Given the description of an element on the screen output the (x, y) to click on. 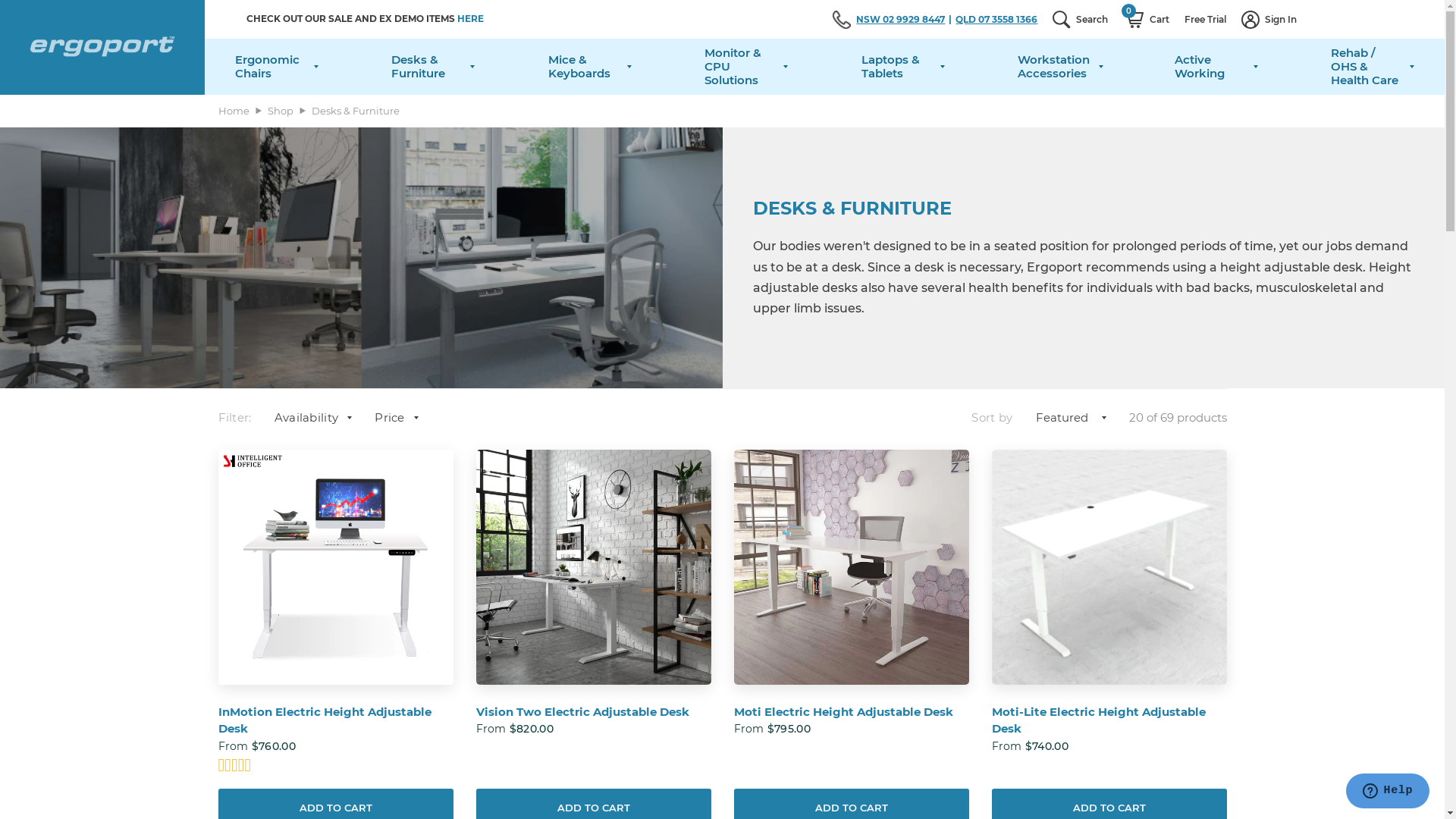
0
Cart Element type: text (1145, 19)
Moti Electric Height Adjustable Desk Element type: text (851, 712)
InMotion Electric Height Adjustable Desk Element type: hover (335, 566)
Vision Two Electric Adjustable Desk Element type: text (593, 712)
Sign In Element type: text (1268, 19)
Moti-Lite Electric Height Adjustable Desk Element type: hover (1108, 566)
QLD 07 3558 1366 Element type: text (996, 19)
Desks & Furniture Element type: text (432, 66)
Moti Electric Height Adjustable Desk Element type: hover (851, 566)
Mice & Keyboards Element type: text (589, 66)
Vision Two Electric Adjustable Desk Element type: hover (593, 566)
Workstation Accessories Element type: text (1060, 66)
InMotion Electric Height Adjustable Desk Element type: text (335, 720)
Ergonomic Chairs Element type: text (276, 66)
Shop Element type: text (279, 110)
Free Trial Element type: text (1204, 19)
Monitor & CPU Solutions Element type: text (745, 66)
Moti-Lite Electric Height Adjustable Desk Element type: text (1108, 720)
NSW 02 9929 8447 Element type: text (905, 19)
Laptops & Tablets Element type: text (902, 66)
Active Working Element type: text (1216, 66)
Home Element type: text (233, 110)
Opens a widget where you can chat to one of our agents Element type: hover (1387, 792)
Rehab / OHS & Health Care Element type: text (1372, 66)
Search Element type: text (1079, 19)
Desks & Furniture Element type: text (354, 110)
HERE Element type: text (470, 18)
